Given the description of an element on the screen output the (x, y) to click on. 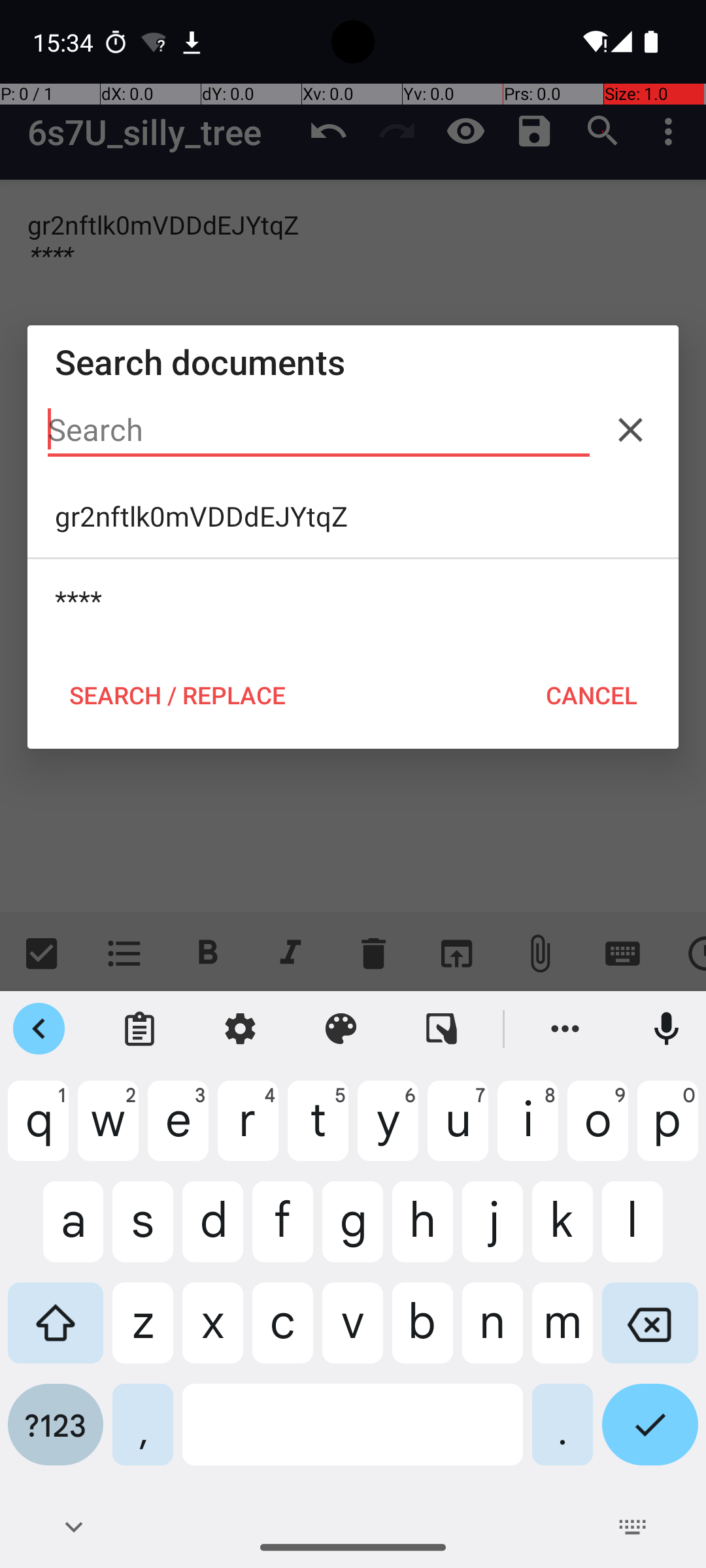
gr2nftlk0mVDDdEJYtqZ Element type: android.widget.TextView (352, 515)
**** Element type: android.widget.TextView (352, 600)
